Given the description of an element on the screen output the (x, y) to click on. 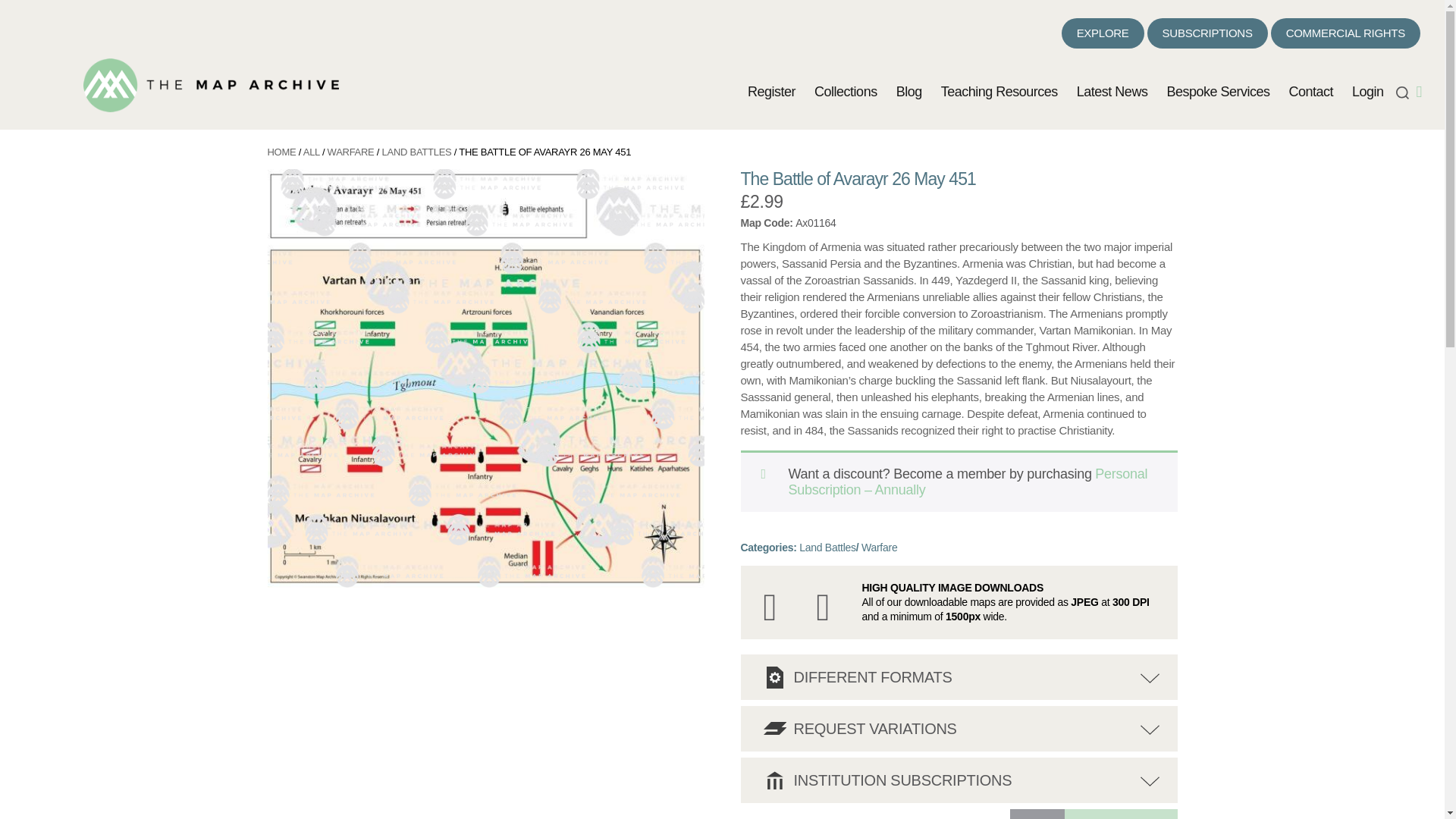
LAND BATTLES (416, 152)
Blog (908, 92)
EXPLORE (1102, 33)
The Battle of Avarayr 26 May 451 (210, 85)
Login (1368, 92)
COMMERCIAL RIGHTS (1346, 33)
Institution Subscriptions (774, 780)
ALL (311, 152)
Collections (845, 92)
Warfare (878, 547)
Land Battles (827, 547)
Register (771, 92)
Teaching Resources (999, 92)
Request Variations (774, 728)
